Given the description of an element on the screen output the (x, y) to click on. 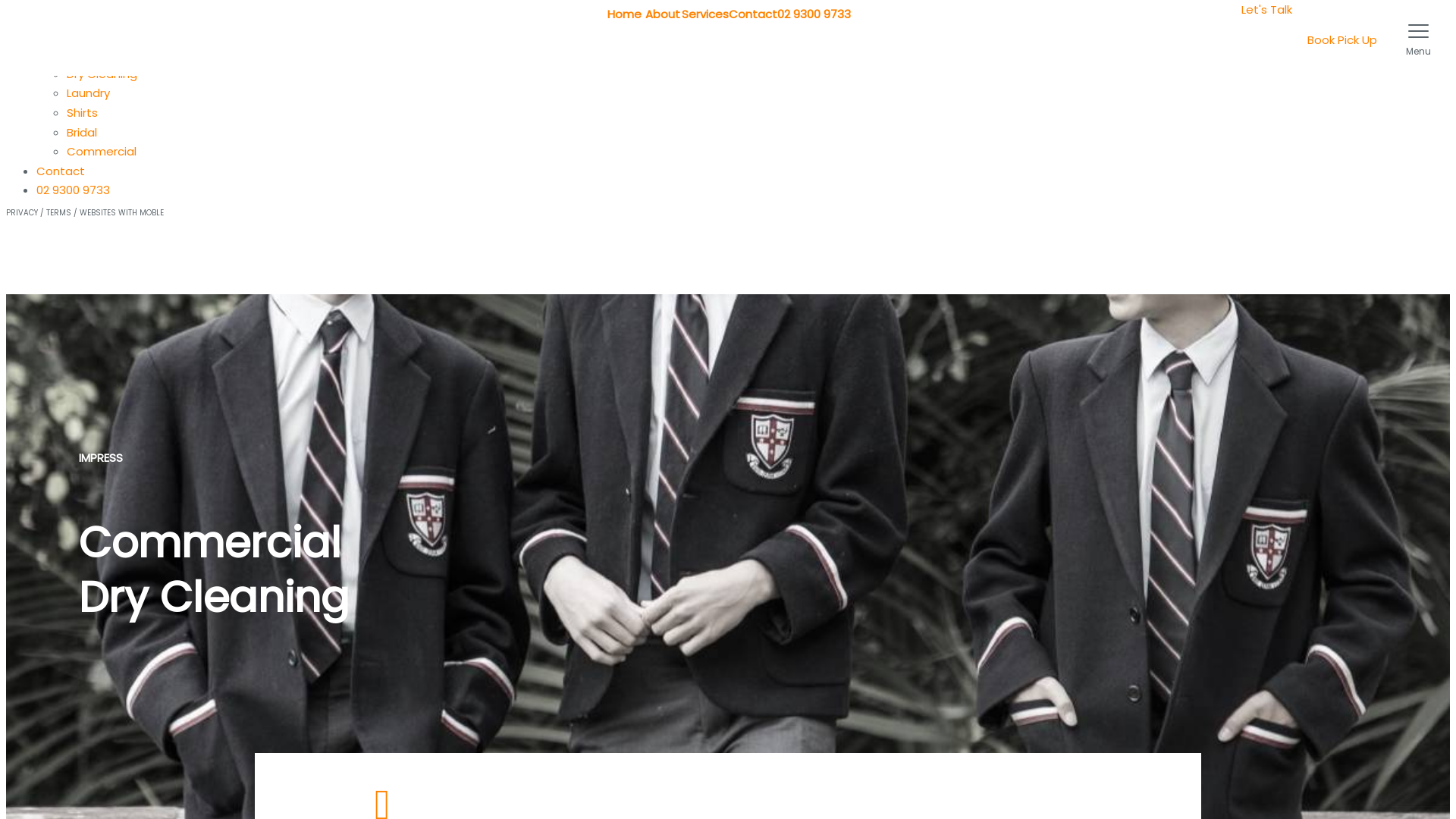
TERMS Element type: text (58, 212)
Shirts Element type: text (81, 112)
Home Element type: text (624, 14)
Let's Talk Element type: text (1266, 9)
Book Pick Up Element type: text (1345, 40)
02 9300 9733 Element type: text (72, 189)
Services Element type: text (704, 14)
Services Element type: text (59, 54)
Dry Cleaning Element type: text (101, 73)
Home Element type: text (53, 15)
Contact Element type: text (752, 14)
02 9300 9733 Element type: text (813, 14)
Commercial Element type: text (101, 151)
Contact Element type: text (60, 170)
About Element type: text (53, 35)
PRIVACY Element type: text (21, 212)
About Element type: text (661, 14)
WEBSITES WITH MOBLE Element type: text (121, 212)
Bridal Element type: text (81, 132)
Laundry Element type: text (87, 92)
